Given the description of an element on the screen output the (x, y) to click on. 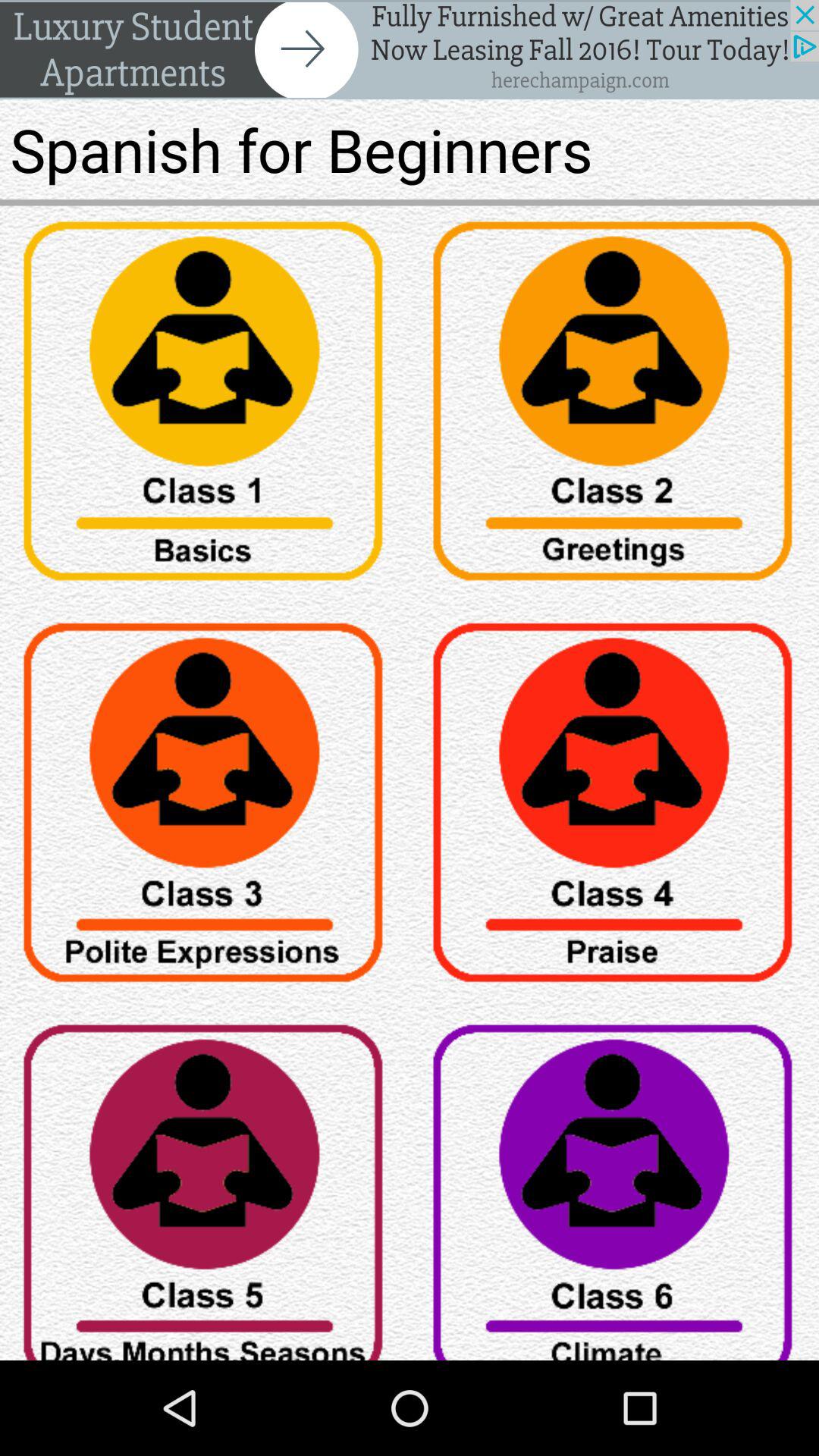
button setting icon (614, 1184)
